Given the description of an element on the screen output the (x, y) to click on. 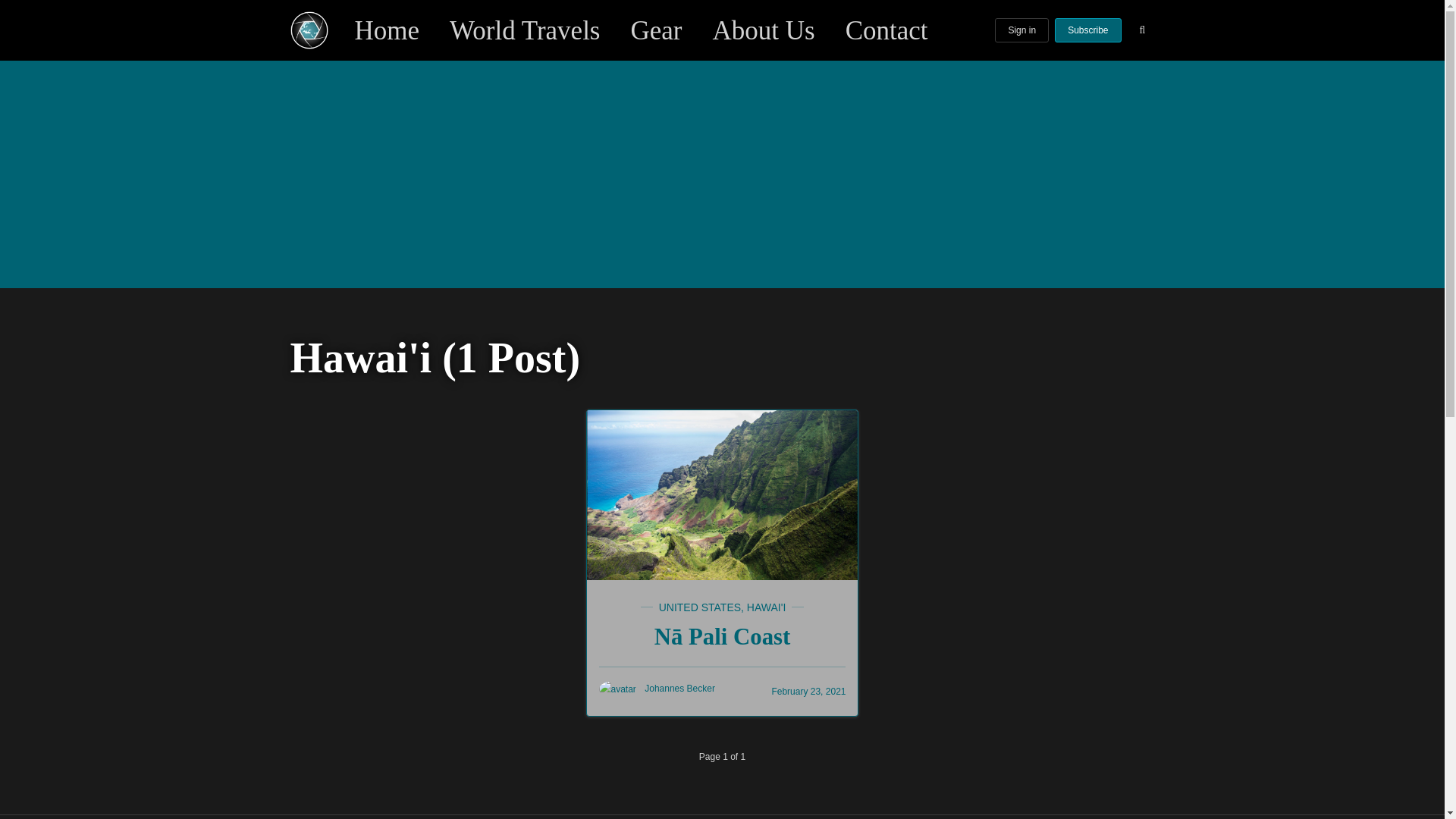
Gear (656, 30)
Contact (886, 30)
Sign in (1021, 30)
About Us (764, 30)
UNITED STATES (700, 607)
Subscribe (1087, 30)
Johannes Becker (656, 688)
World Travels (524, 30)
Home (387, 30)
HAWAI'I (766, 607)
